Given the description of an element on the screen output the (x, y) to click on. 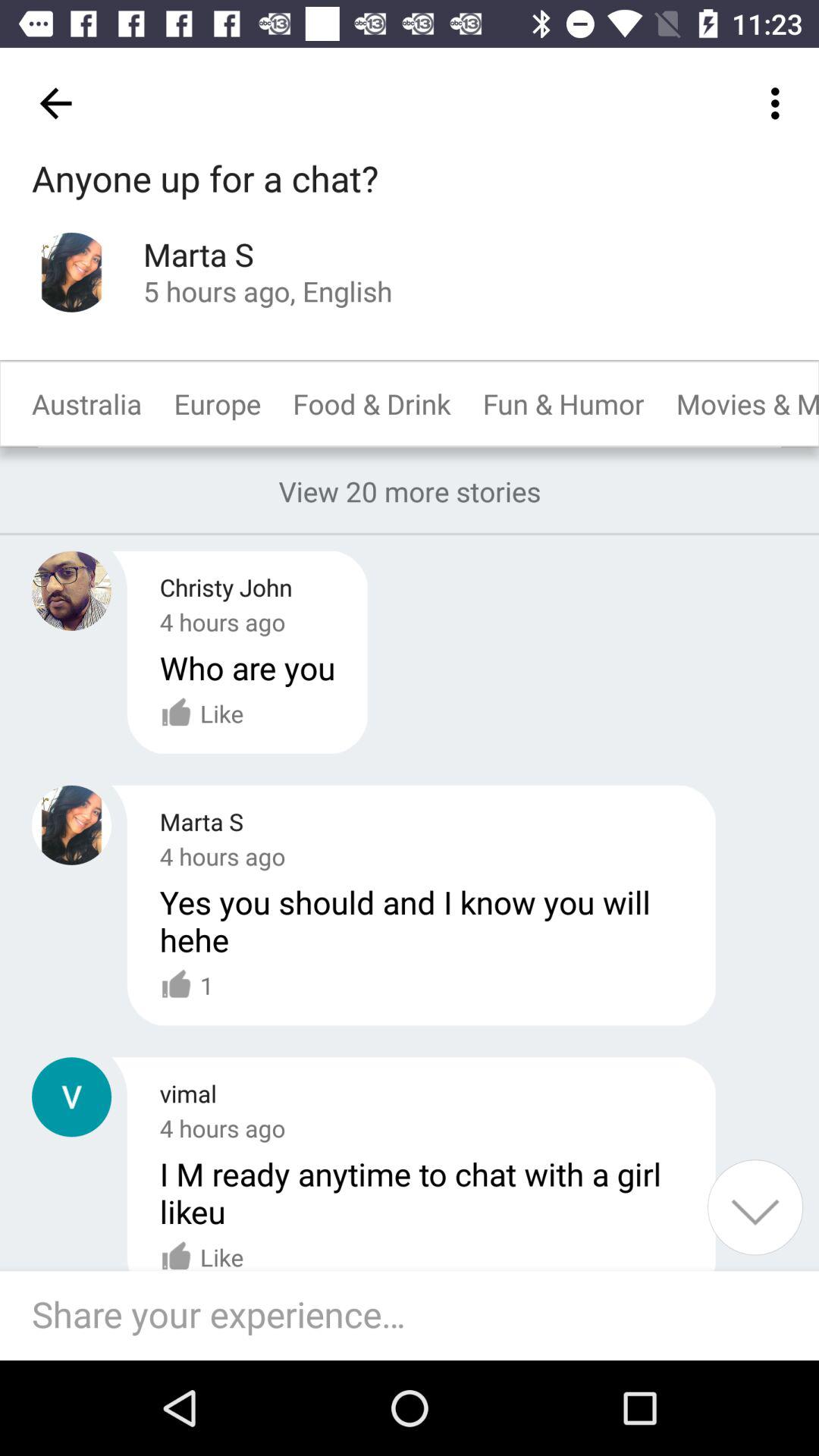
user profile image (71, 590)
